Given the description of an element on the screen output the (x, y) to click on. 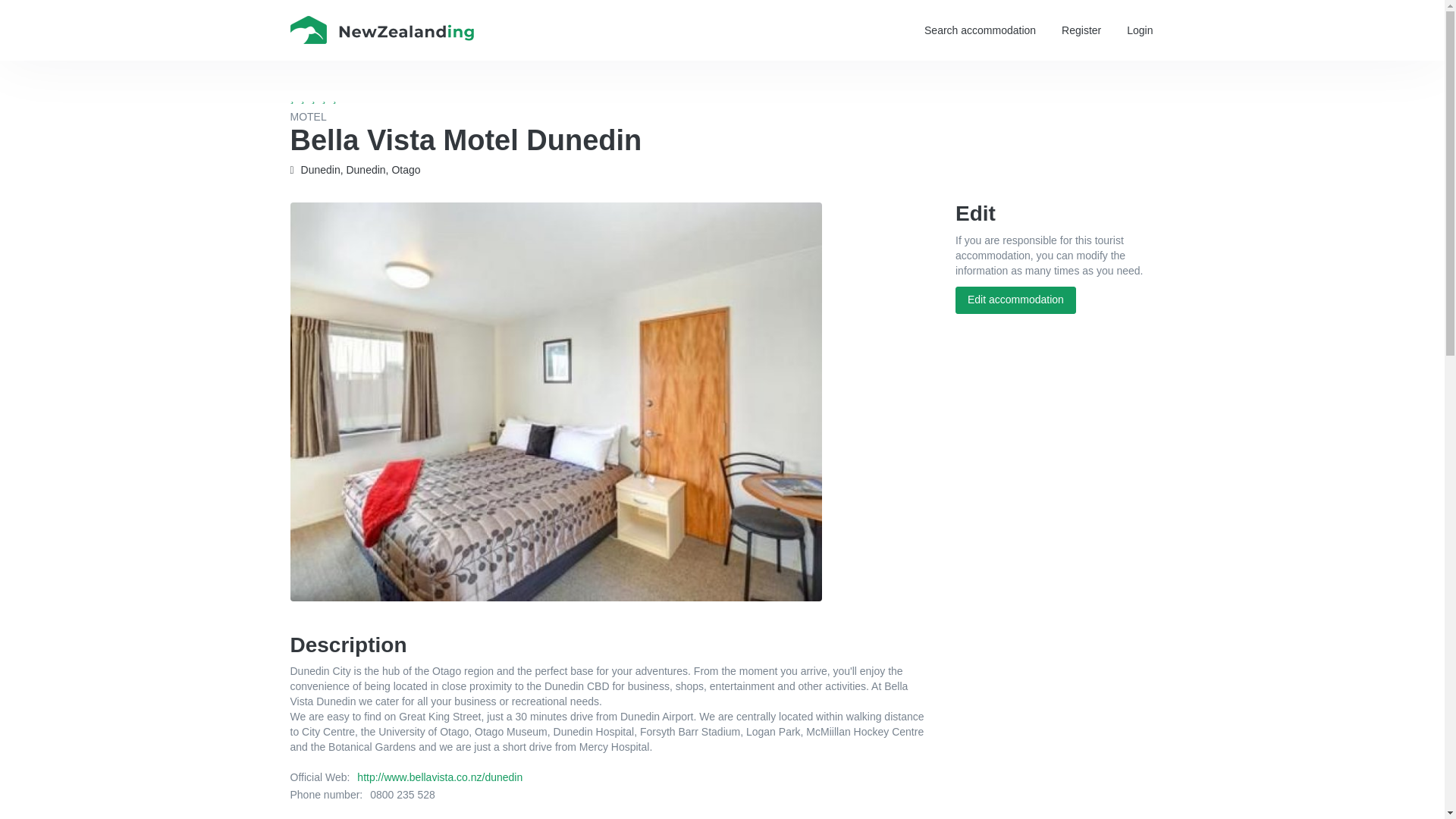
Edit accommodation (1015, 299)
Search accommodation (979, 30)
Register (1080, 30)
Login (1139, 30)
